Given the description of an element on the screen output the (x, y) to click on. 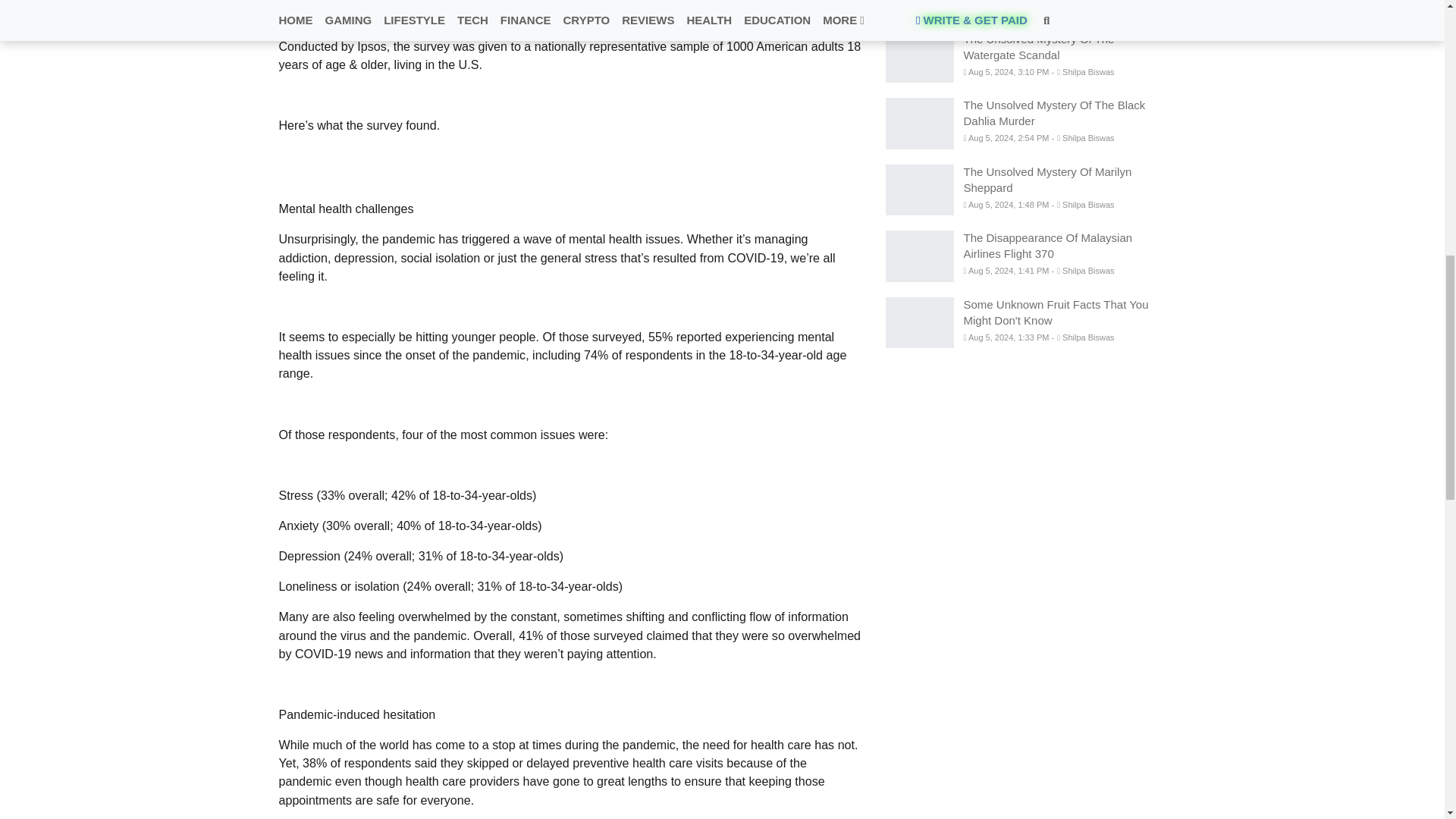
The Unsolved Mystery Of The Black Dahlia Murder (919, 123)
The Unsolved Mystery Of The Watergate Scandal (919, 57)
Bill broadcast and priyanka gandhi etc (919, 8)
The Disappearance Of Malaysian Airlines Flight 370 (919, 255)
Some Unknown Fruit Facts That You Might Don't Know (919, 322)
The Unsolved Mystery Of Marilyn Sheppard (919, 190)
